Given the description of an element on the screen output the (x, y) to click on. 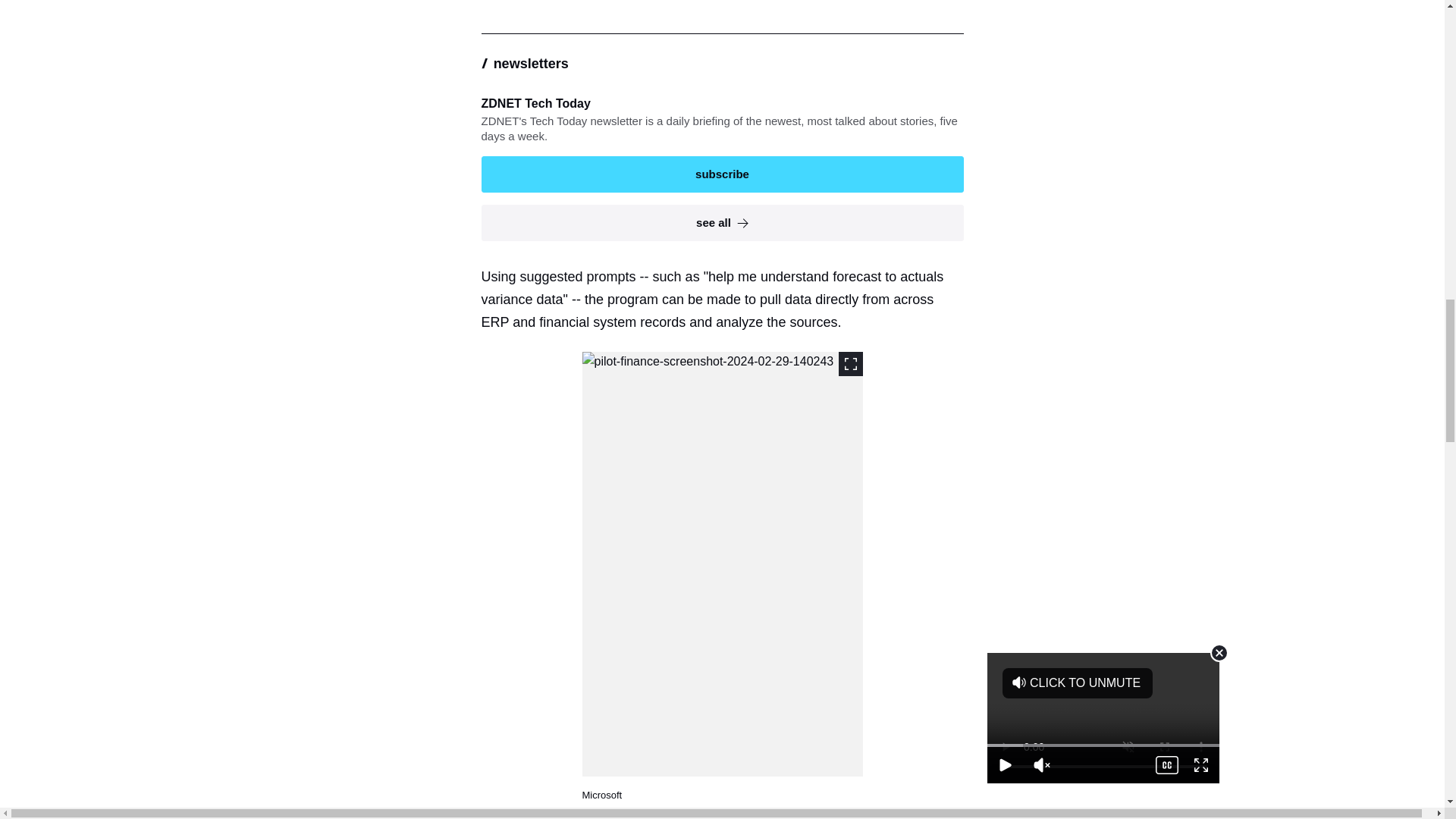
3rd party ad content (727, 4)
